Given the description of an element on the screen output the (x, y) to click on. 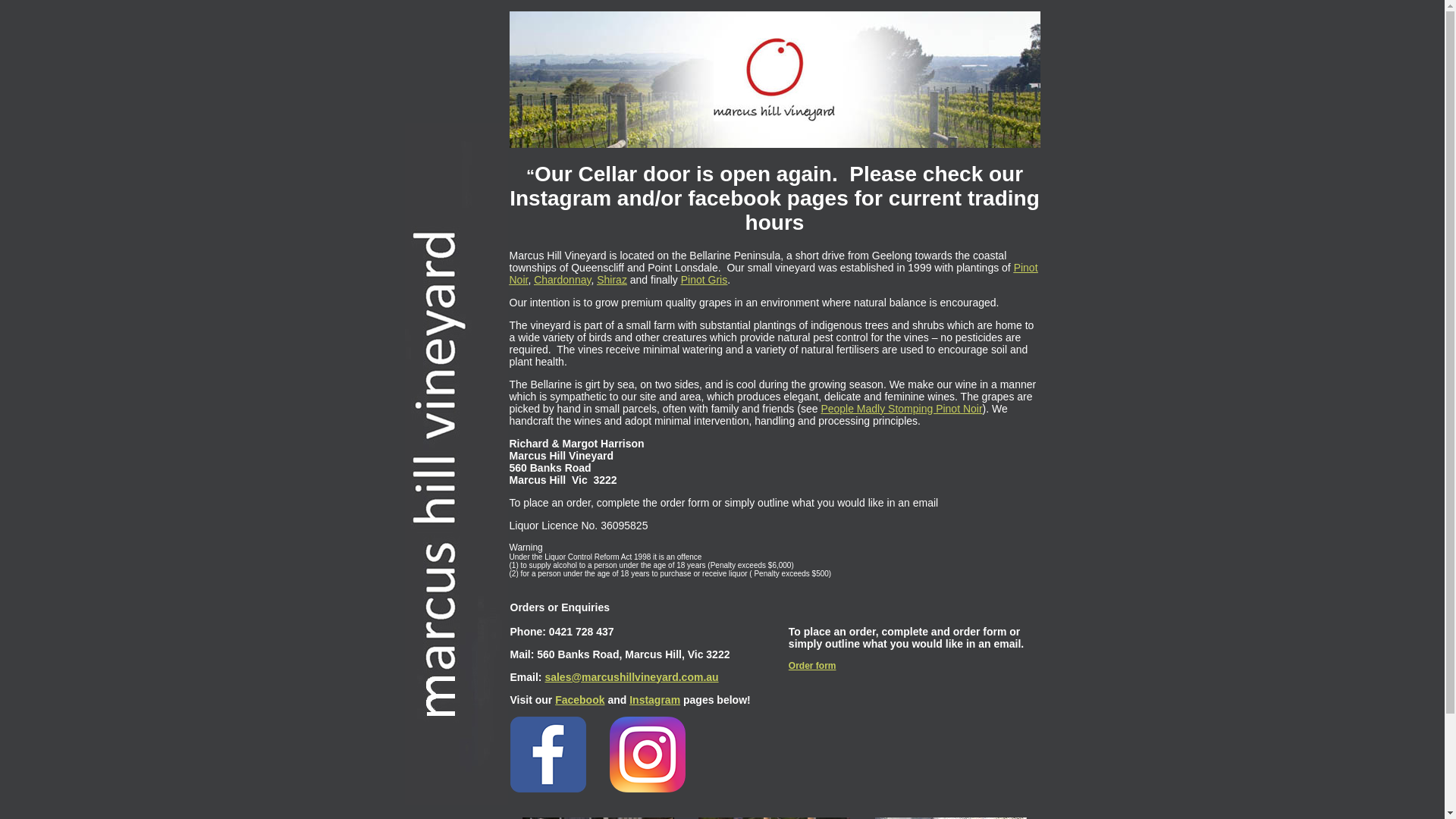
Facebook Element type: text (579, 699)
Pinot Gris Element type: text (703, 279)
Shiraz Element type: text (611, 279)
Instagram Element type: text (654, 699)
Pinot Noir Element type: text (773, 272)
People Madly Stomping Pinot Noir Element type: text (901, 407)
Chardonnay Element type: text (561, 279)
sales@marcushillvineyard.com.au Element type: text (631, 676)
Order form Element type: text (812, 664)
